Given the description of an element on the screen output the (x, y) to click on. 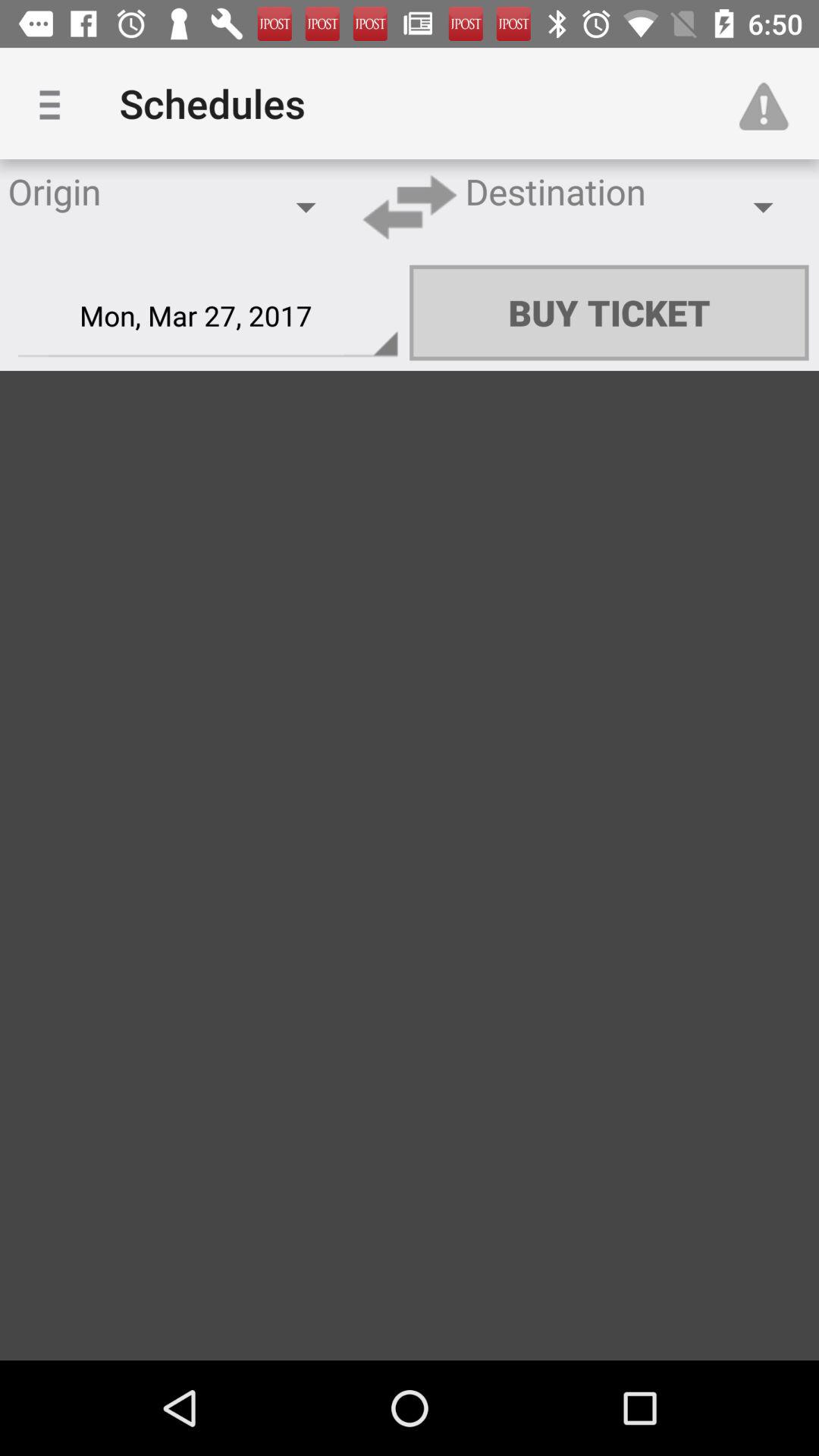
tap mon mar 27 (207, 316)
